Given the description of an element on the screen output the (x, y) to click on. 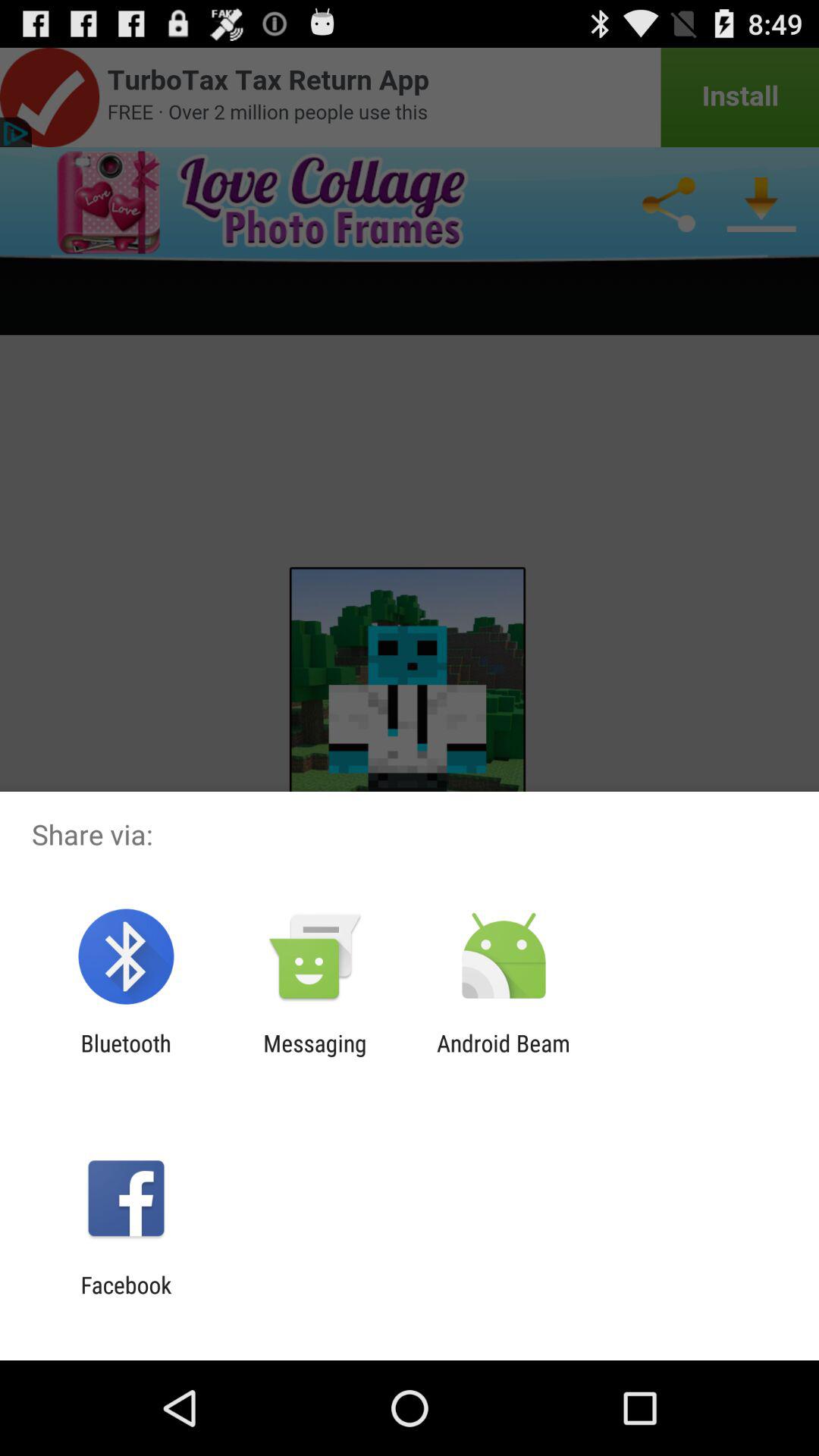
turn off app next to the messaging app (503, 1056)
